Given the description of an element on the screen output the (x, y) to click on. 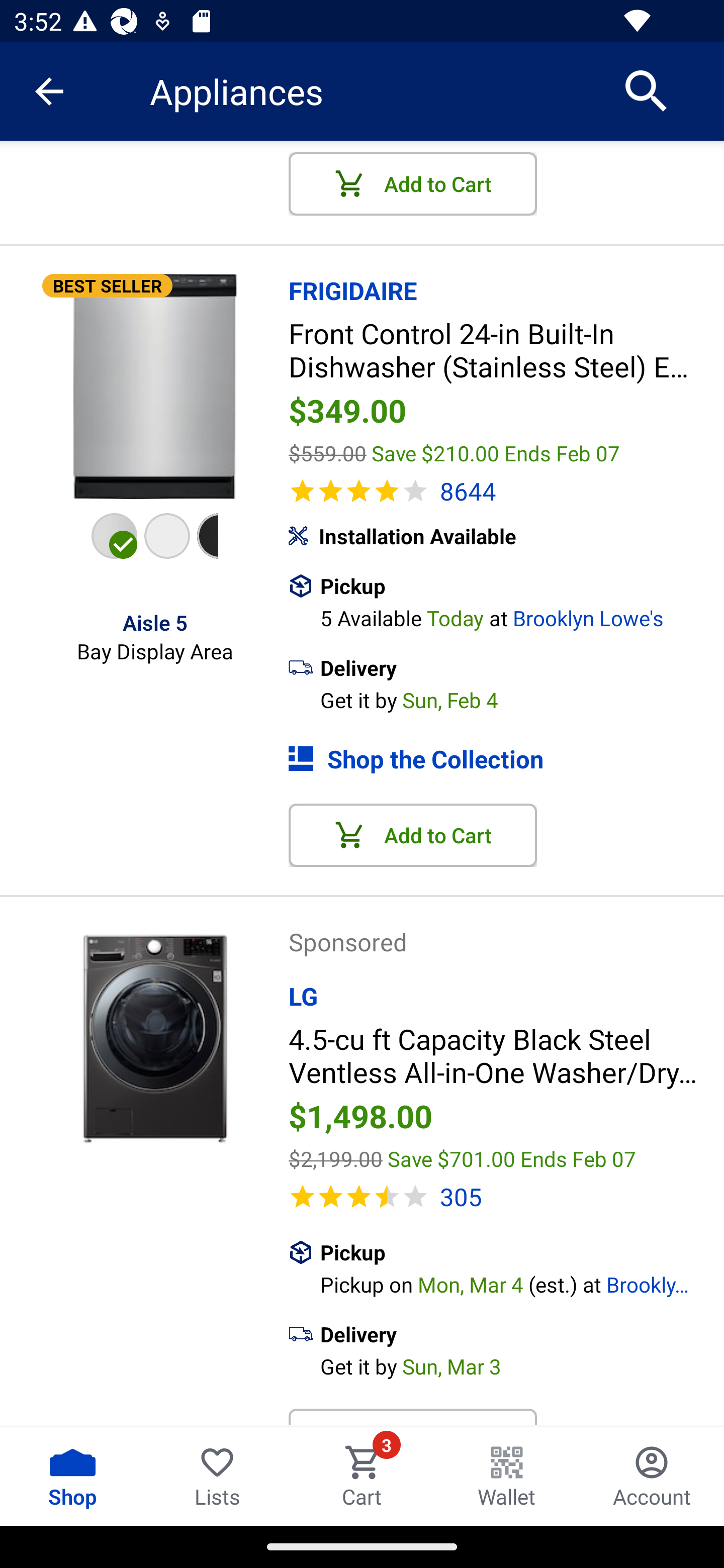
Navigate up (49, 91)
Search for products (646, 90)
Add to Cart (412, 184)
5 Available Today  at  Brooklyn Lowe's (522, 615)
Shop the Collection (506, 758)
Add to Cart (412, 834)
Pickup on Mon, Mar 4 (est.)  at  Brooklyn Lowe's (522, 1282)
Lists (216, 1475)
Cart Cart 3 (361, 1475)
Wallet (506, 1475)
Account (651, 1475)
